Given the description of an element on the screen output the (x, y) to click on. 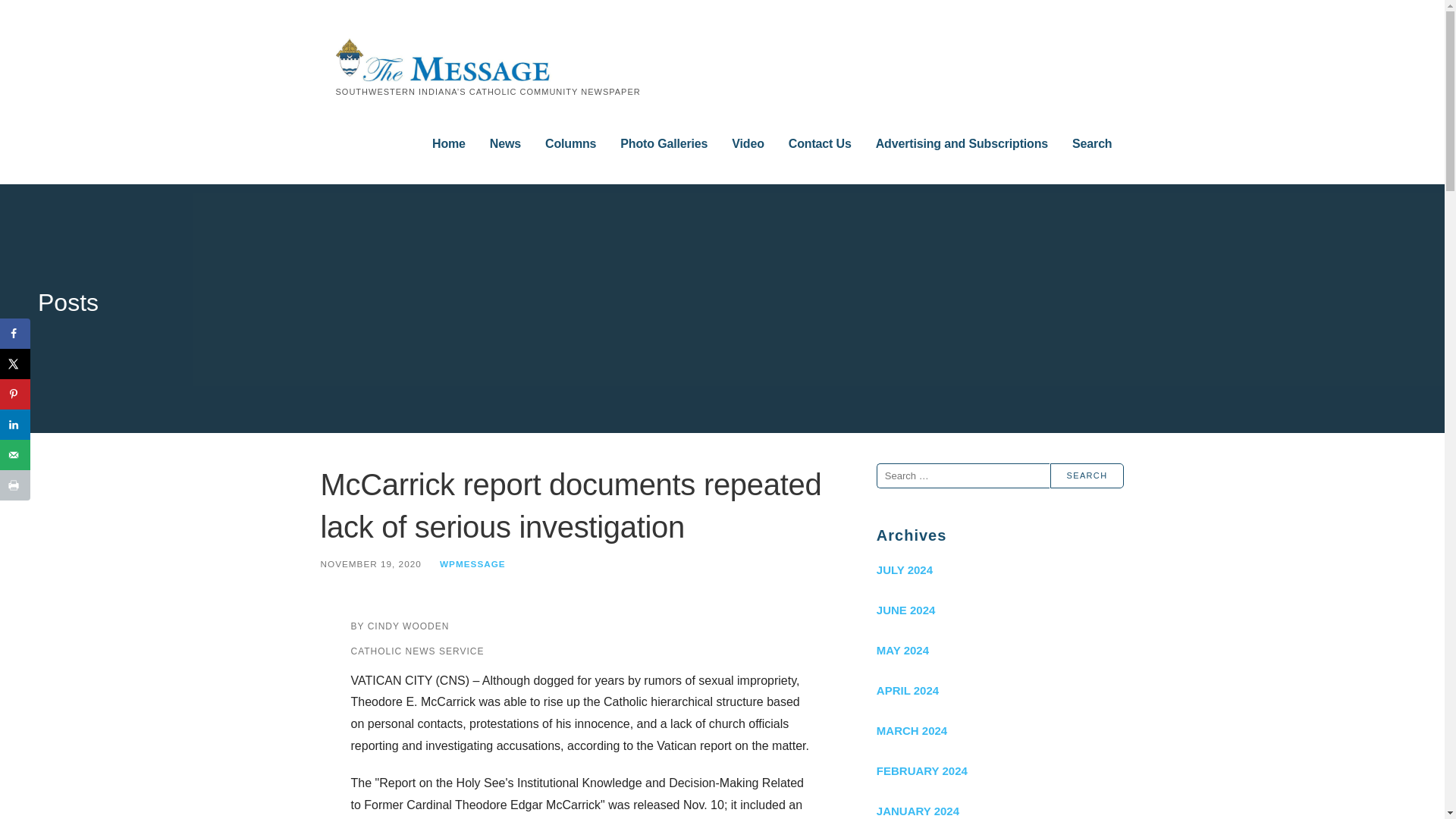
Posts by wpmessage (472, 563)
Search (1086, 475)
Share on Facebook (15, 333)
WPMESSAGE (472, 563)
Send over email (15, 454)
Contact Us (820, 144)
Search (1091, 144)
Advertising and Subscriptions (962, 144)
Video (747, 144)
Share on LinkedIn (15, 424)
Share on X (15, 363)
Save to Pinterest (15, 394)
News (505, 144)
Home (448, 144)
Search (1086, 475)
